Given the description of an element on the screen output the (x, y) to click on. 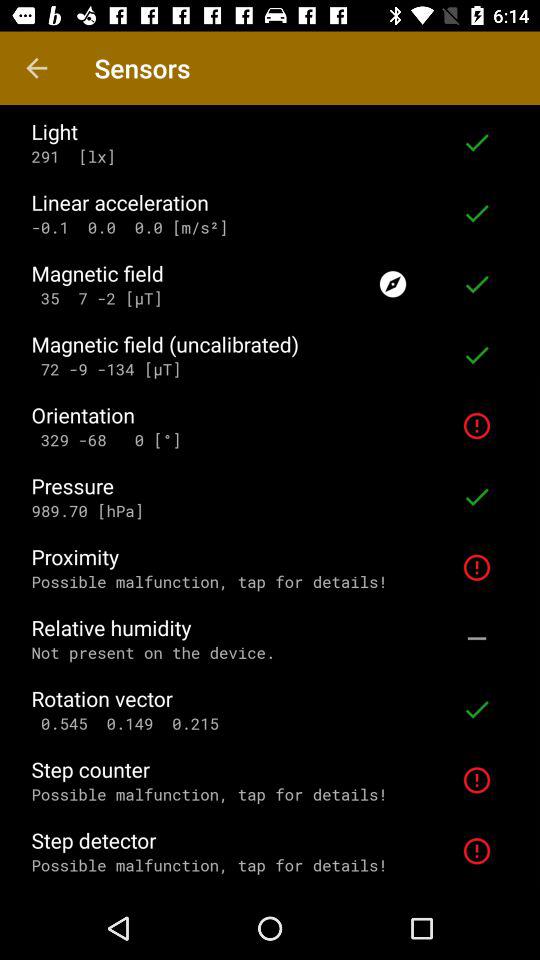
open item above light (36, 68)
